Given the description of an element on the screen output the (x, y) to click on. 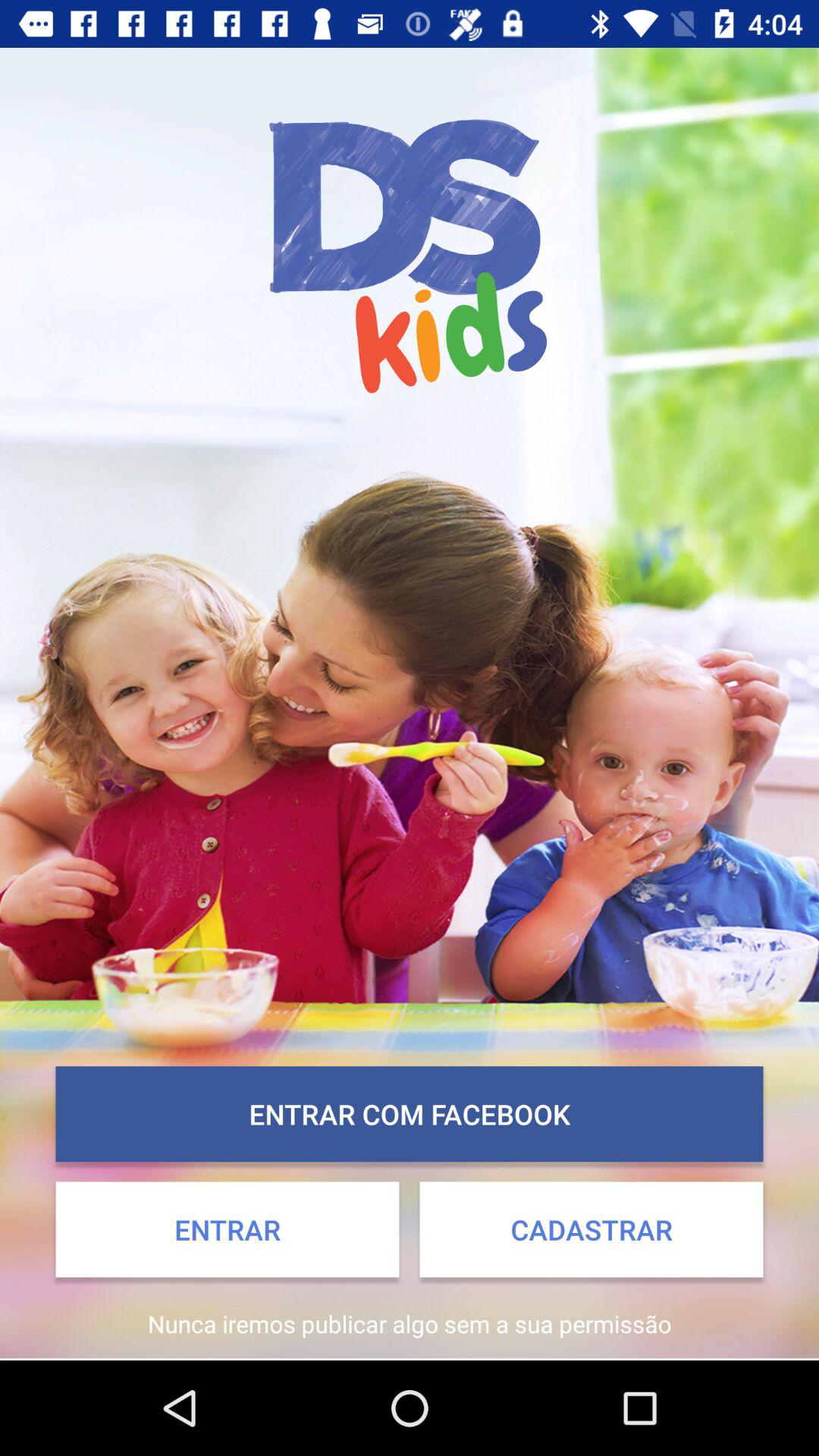
select cadastrar item (591, 1229)
